Given the description of an element on the screen output the (x, y) to click on. 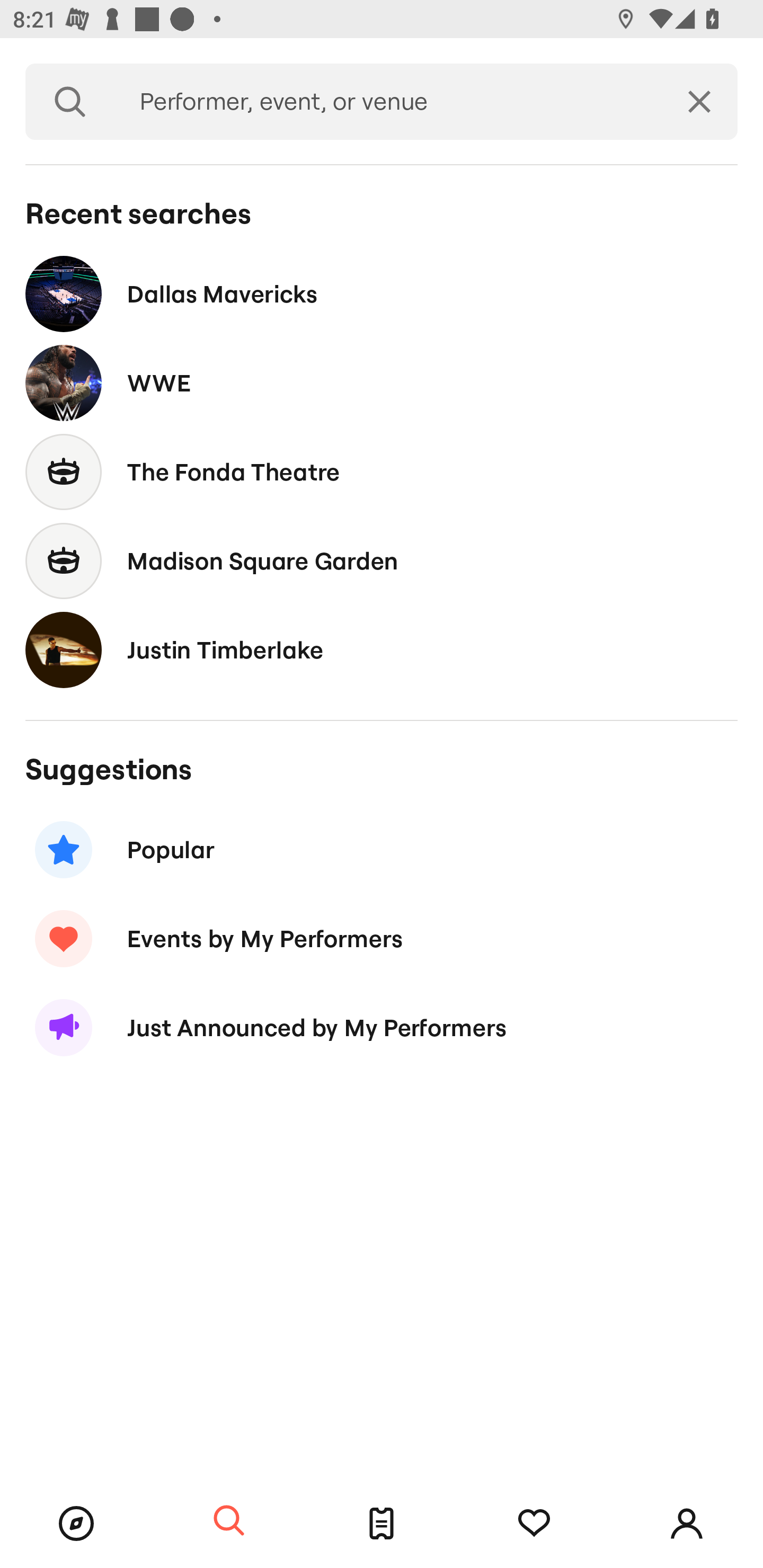
Search (69, 101)
Performer, event, or venue (387, 101)
Clear (699, 101)
Dallas Mavericks (381, 293)
WWE (381, 383)
The Fonda Theatre (381, 471)
Madison Square Garden (381, 560)
Justin Timberlake (381, 649)
Popular (381, 849)
Events by My Performers (381, 938)
Just Announced by My Performers (381, 1027)
Browse (76, 1523)
Search (228, 1521)
Tickets (381, 1523)
Tracking (533, 1523)
Account (686, 1523)
